Given the description of an element on the screen output the (x, y) to click on. 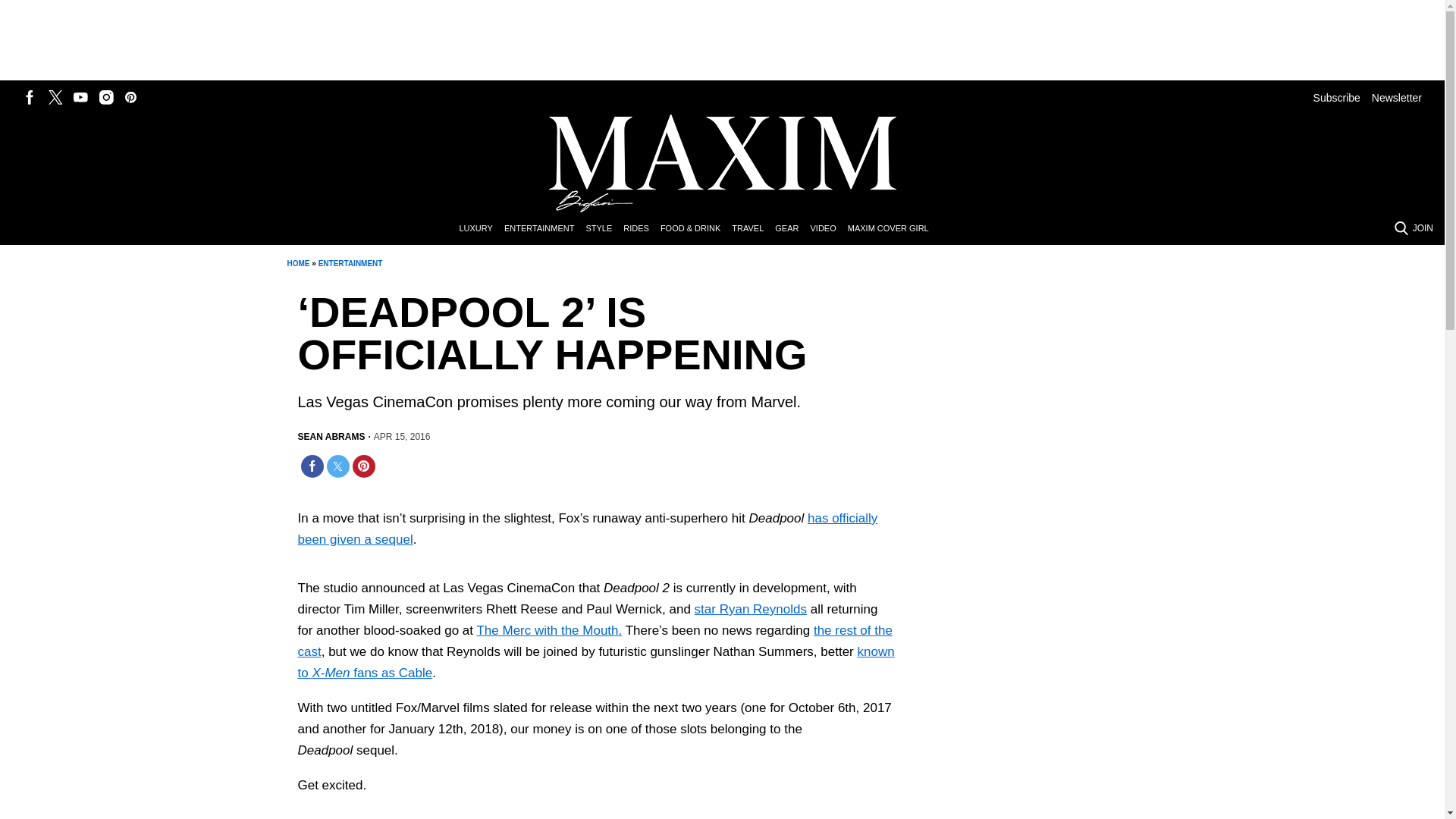
Follow us on pinterest (130, 97)
ENTERTAINMENT (350, 263)
Follow us on Youtube (80, 97)
VIDEO (828, 228)
RIDES (642, 228)
JOIN (1422, 228)
SEAN ABRAMS (331, 436)
Share on Twitter (337, 466)
HOME (297, 263)
Subscribe (1336, 97)
Follow us on Instagram (106, 97)
ENTERTAINMENT (544, 228)
LUXURY (480, 228)
STYLE (604, 228)
Share on Facebook (311, 466)
